Given the description of an element on the screen output the (x, y) to click on. 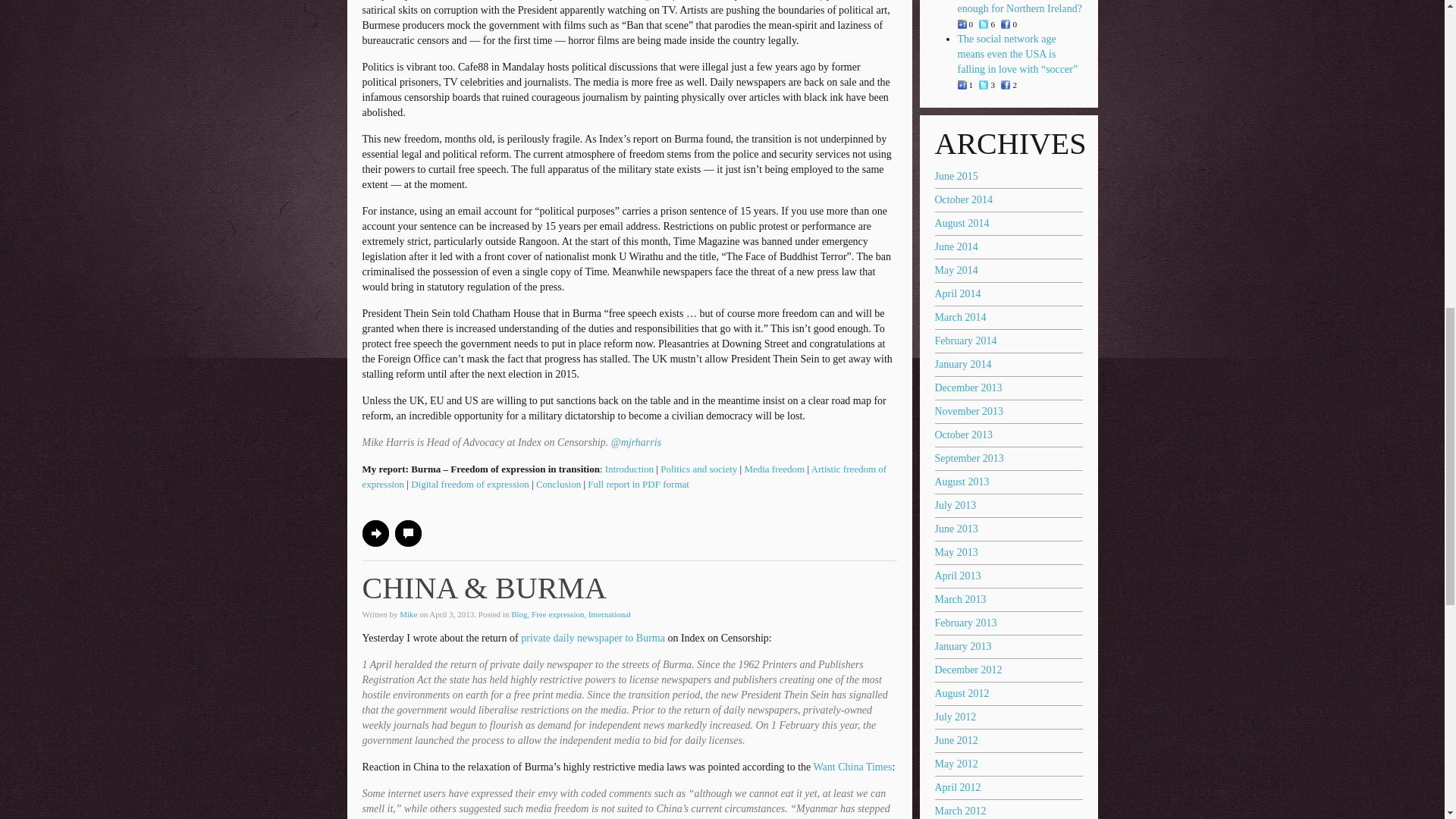
View all posts in Free expression (557, 614)
Mike (407, 614)
View all posts in International (609, 614)
View all posts in Blog (519, 614)
